Given the description of an element on the screen output the (x, y) to click on. 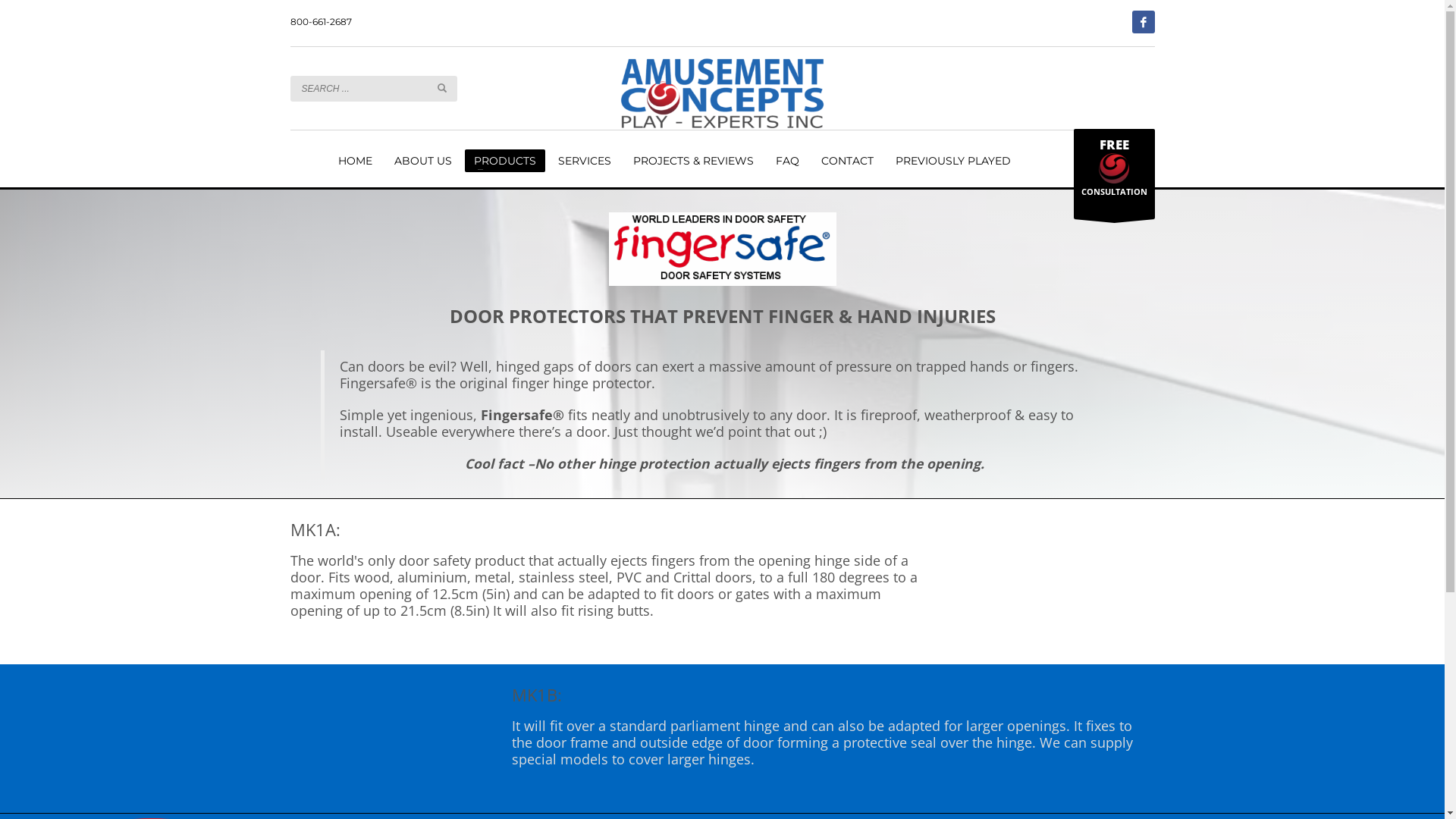
PREVIOUSLY PLAYED Element type: text (952, 160)
PROJECTS & REVIEWS Element type: text (692, 160)
go Element type: text (440, 86)
FREE
CONSULTATION Element type: text (1113, 173)
HOME Element type: text (355, 160)
CONTACT Element type: text (846, 160)
ABOUT US Element type: text (423, 160)
800-661-2687 Element type: text (320, 21)
FAQ Element type: text (786, 160)
Indoor Playground Equipment Experts. Element type: hover (722, 92)
PRODUCTS Element type: text (504, 160)
SERVICES Element type: text (584, 160)
